Given the description of an element on the screen output the (x, y) to click on. 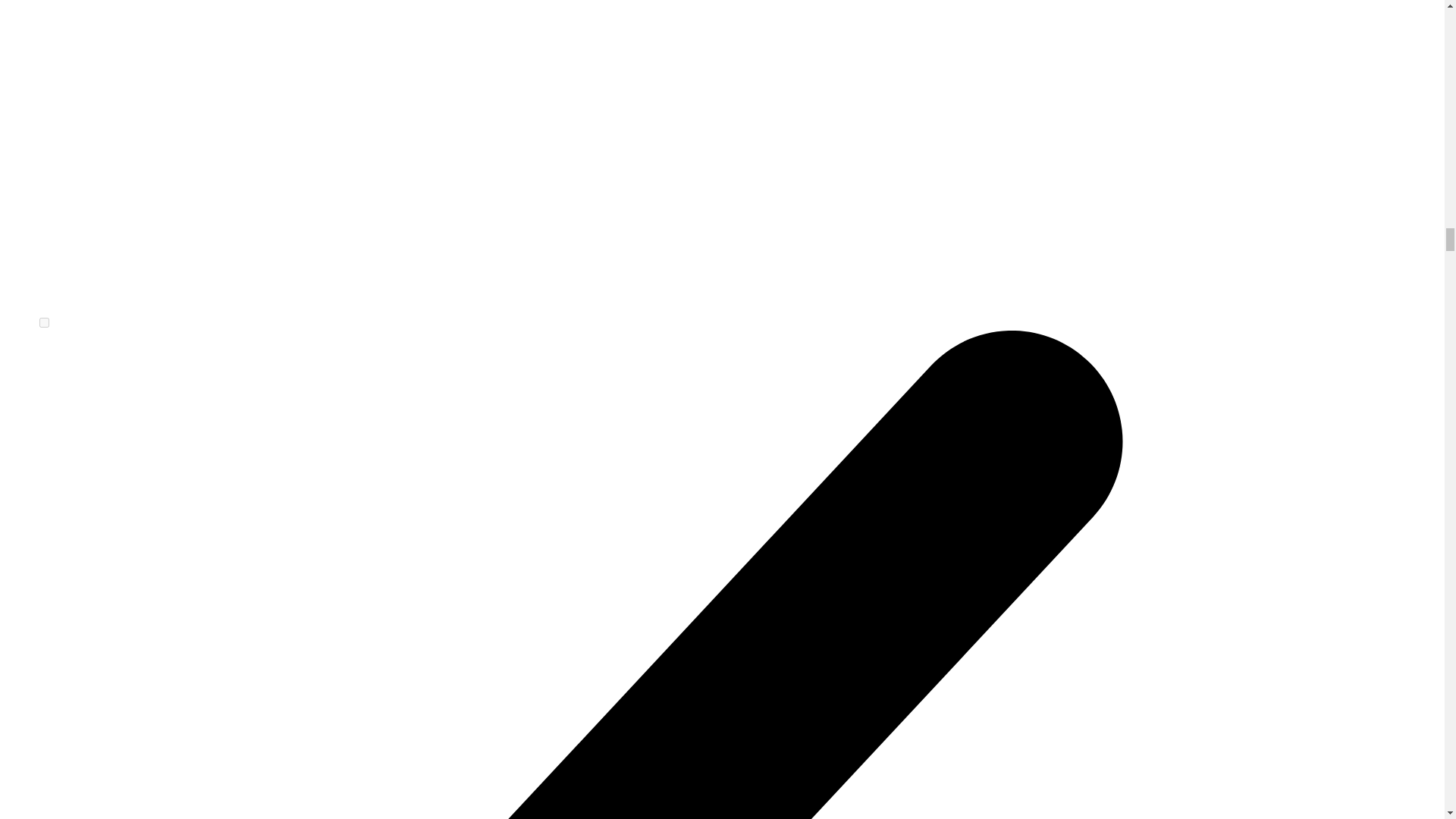
on (44, 322)
